Given the description of an element on the screen output the (x, y) to click on. 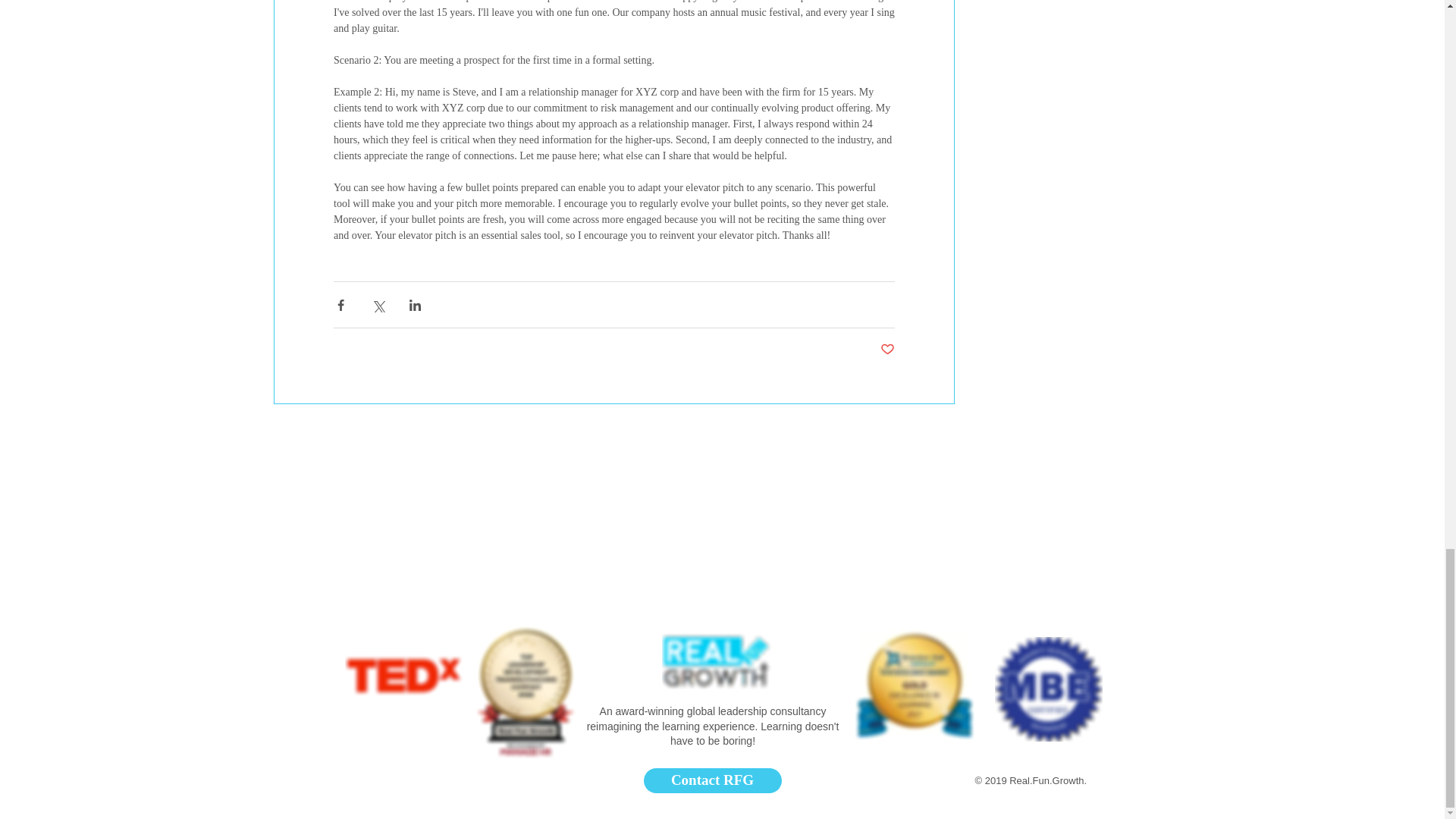
Post not marked as liked (886, 349)
Contact RFG (711, 780)
